Given the description of an element on the screen output the (x, y) to click on. 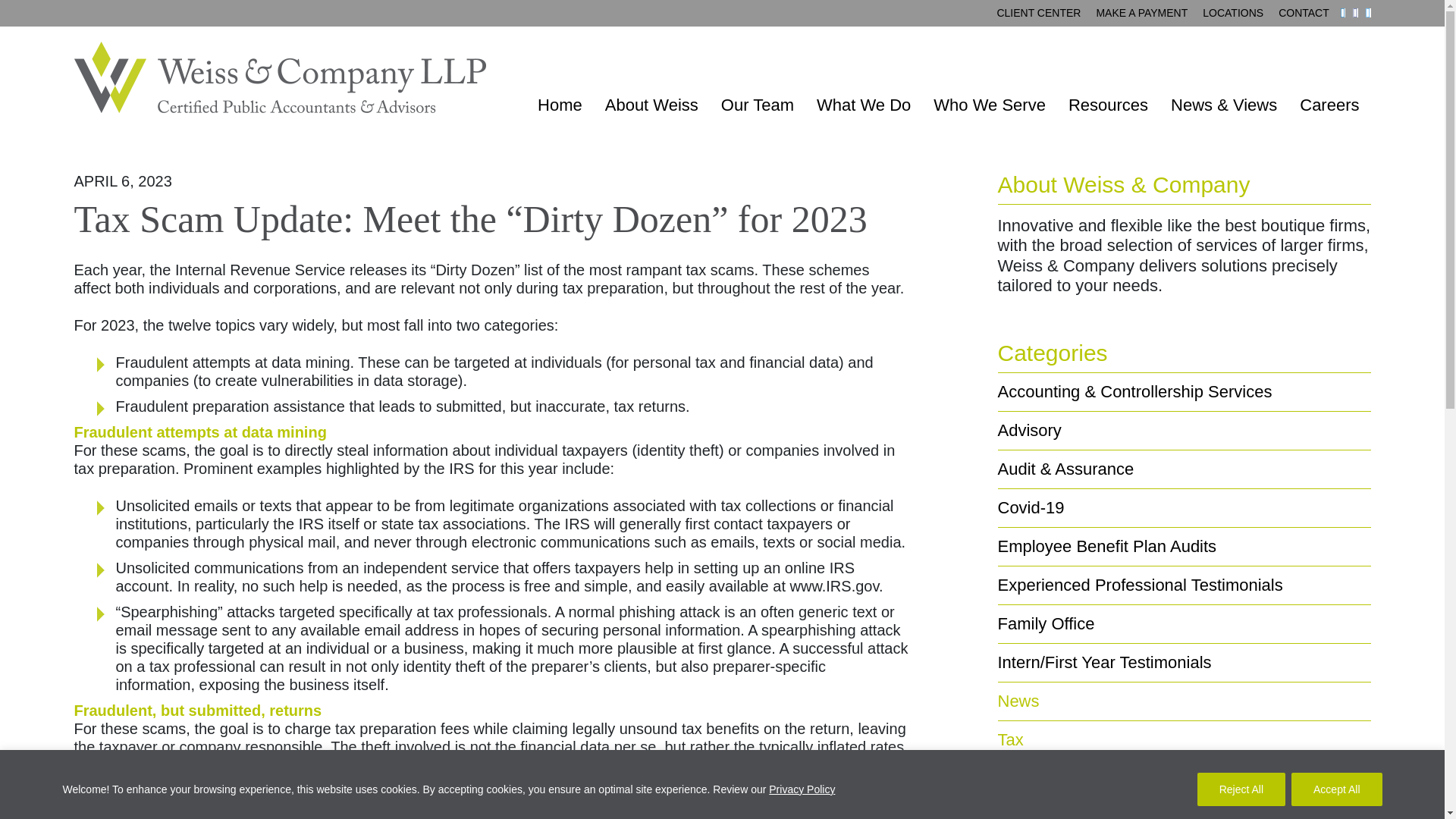
MAKE A PAYMENT (1141, 13)
Our Team (757, 104)
Weiss CPA (280, 77)
Reject All (1240, 788)
CLIENT CENTER (1037, 13)
Who We Serve (989, 104)
Privacy Policy (801, 788)
Accept All (1336, 788)
About Weiss (652, 104)
CONTACT (1303, 13)
